Given the description of an element on the screen output the (x, y) to click on. 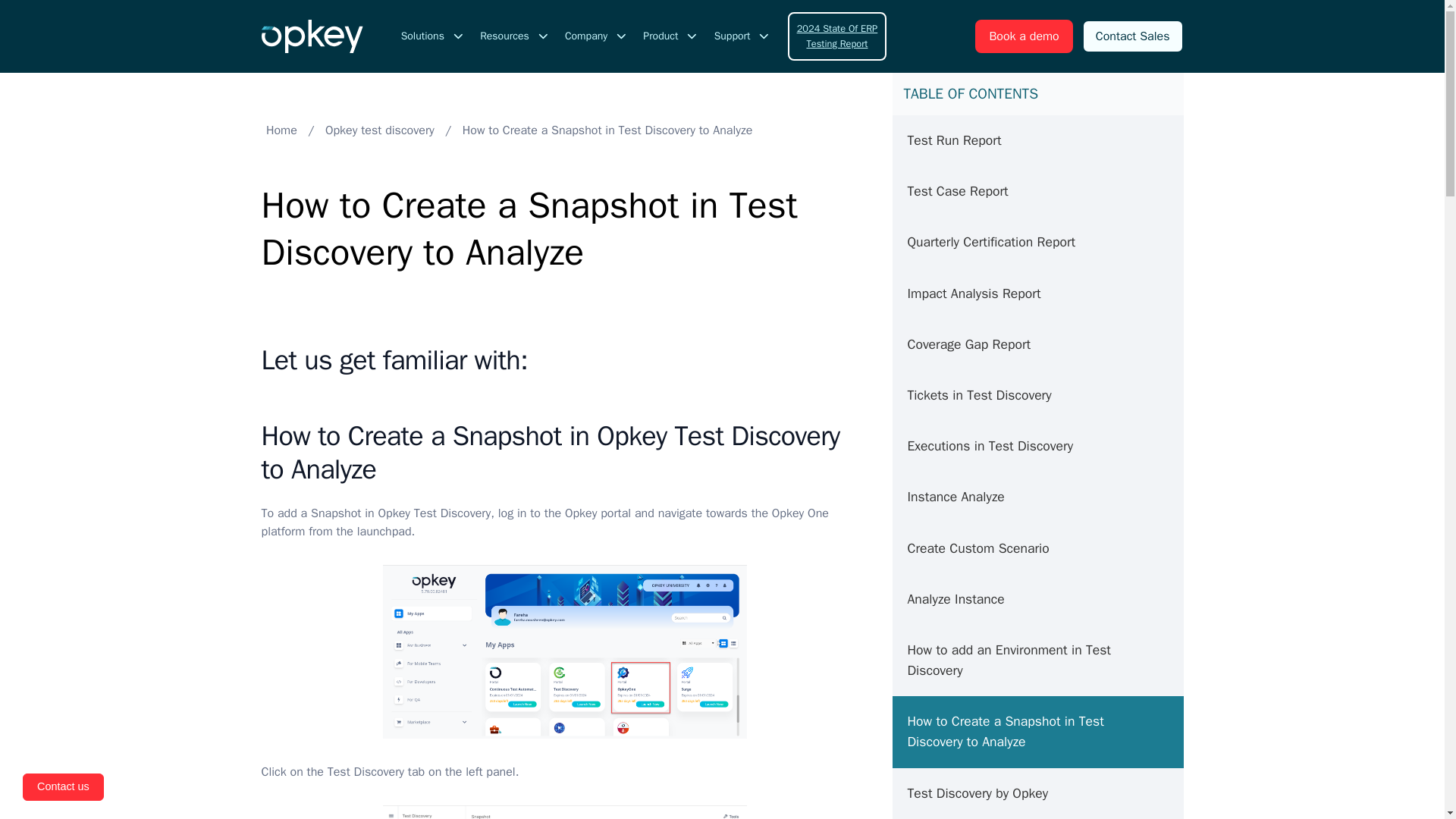
Contact us (63, 786)
